Given the description of an element on the screen output the (x, y) to click on. 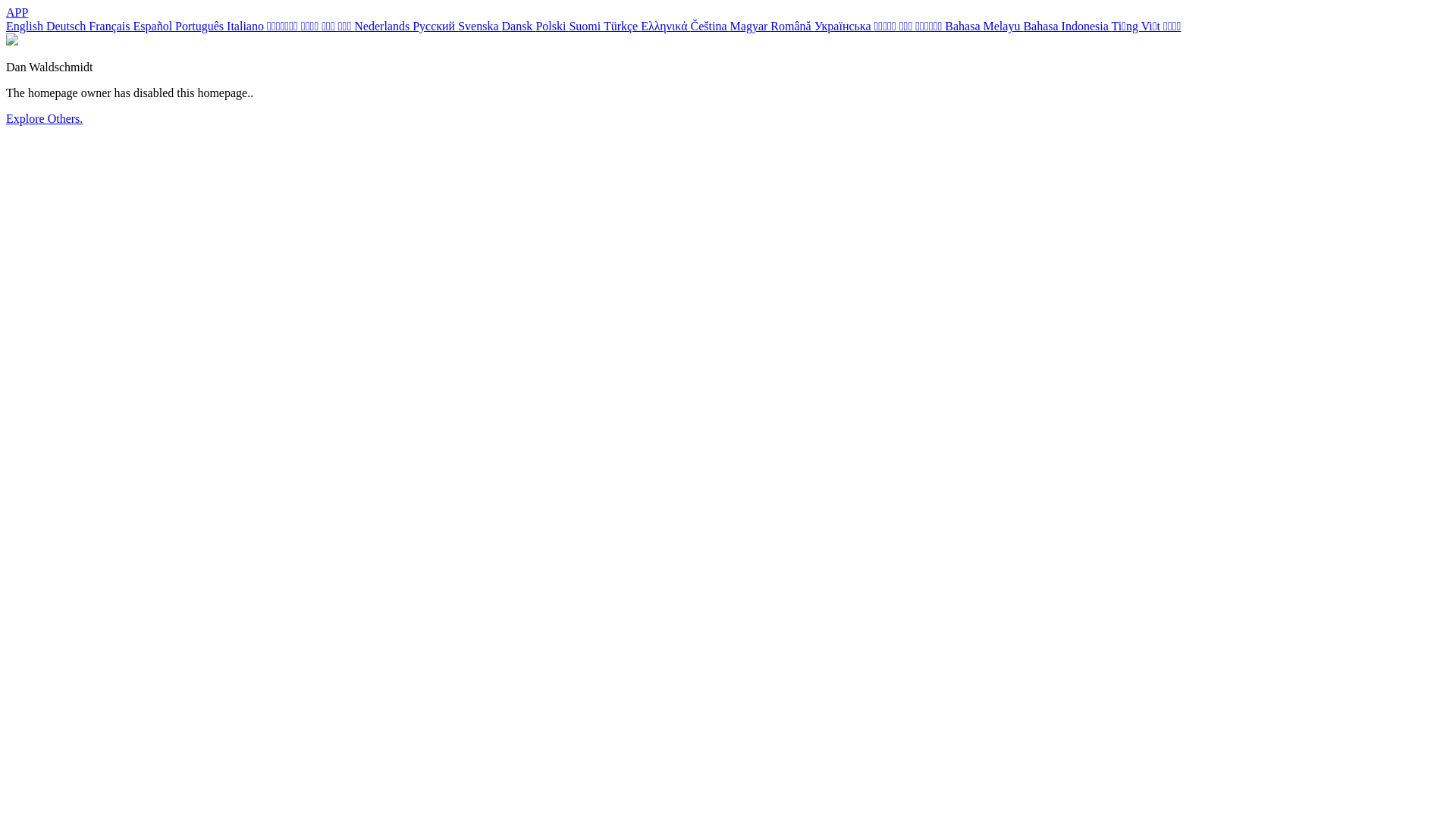
APP Element type: text (17, 12)
Deutsch Element type: text (67, 25)
Italiano Element type: text (262, 25)
Svenska Element type: text (479, 25)
Bahasa Indonesia Element type: text (1066, 25)
Magyar Element type: text (750, 25)
Nederlands Element type: text (383, 25)
Polski Element type: text (551, 25)
Bahasa Melayu Element type: text (983, 25)
Dansk Element type: text (518, 25)
Explore Others. Element type: text (44, 118)
Suomi Element type: text (585, 25)
English Element type: text (26, 25)
